Given the description of an element on the screen output the (x, y) to click on. 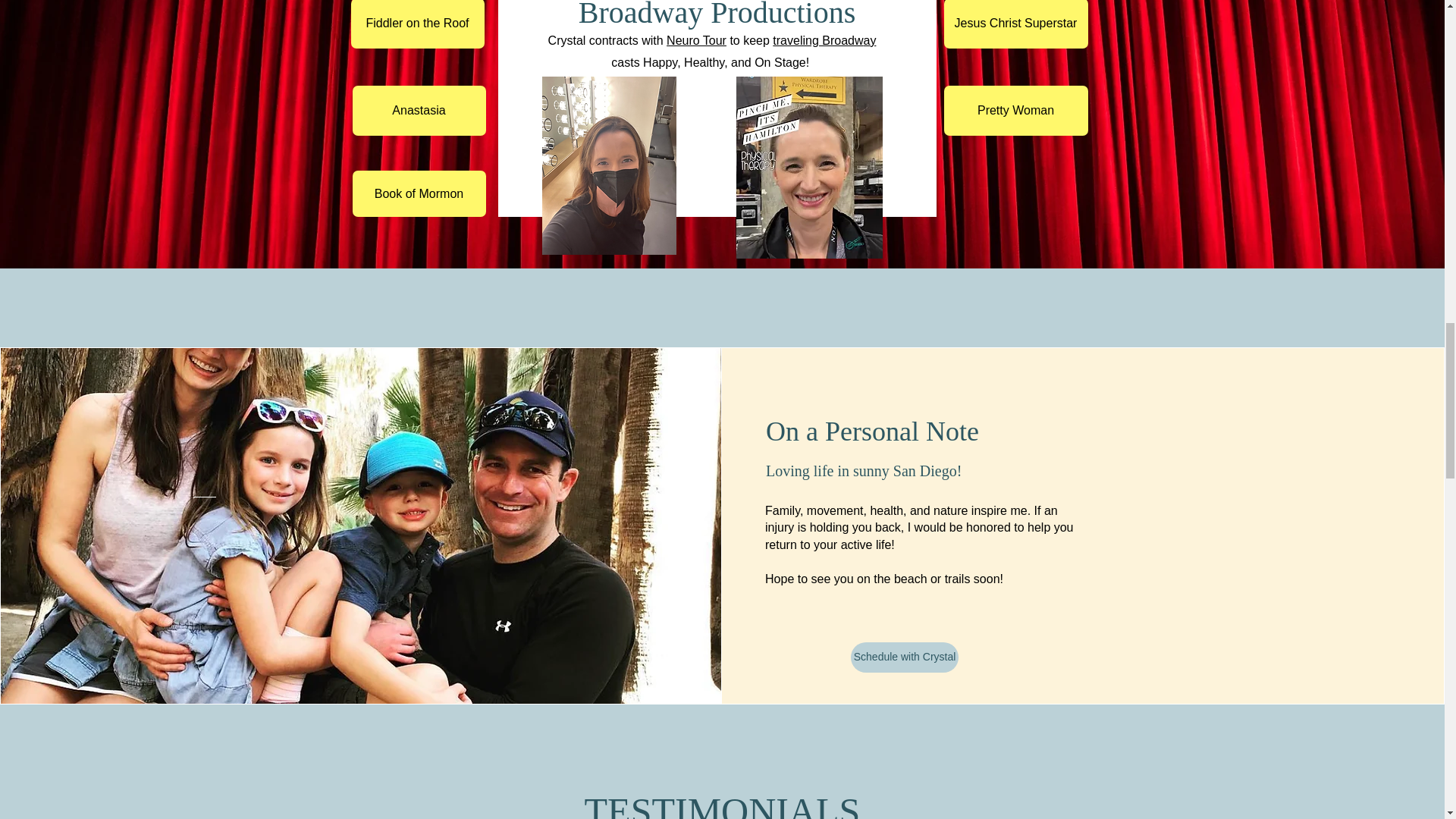
Neuro Tour (696, 40)
Book of Mormon (418, 193)
traveling Broadway (824, 40)
Schedule with Crystal (904, 657)
Anastasia (418, 110)
Pretty Woman (1015, 110)
Fiddler on the Roof (416, 24)
Jesus Christ Superstar (1015, 24)
